Given the description of an element on the screen output the (x, y) to click on. 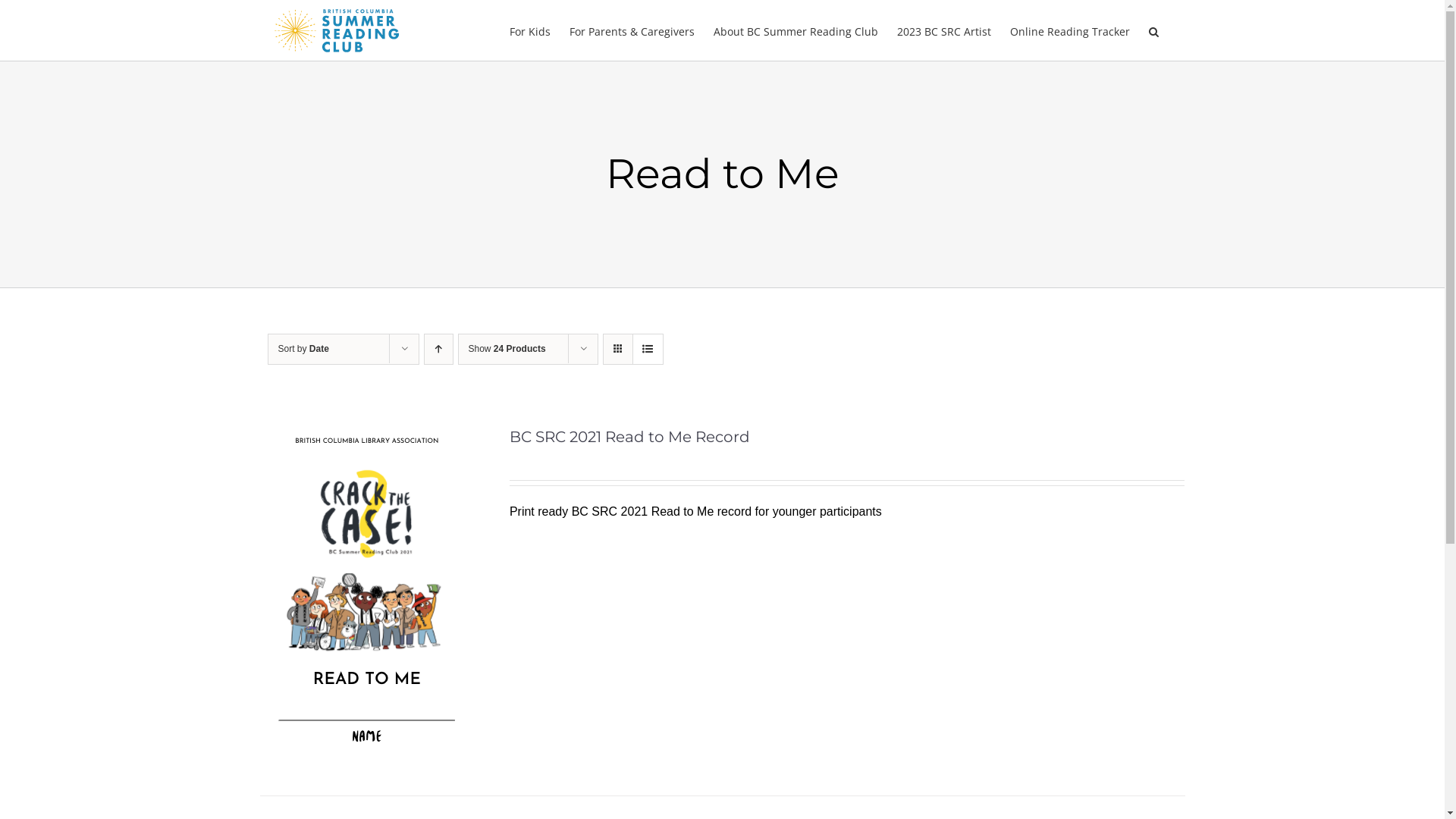
2023 BC SRC Artist Element type: text (943, 30)
For Kids Element type: text (529, 30)
About BC Summer Reading Club Element type: text (794, 30)
Search Element type: hover (1152, 30)
BC SRC 2021 Read to Me Record Element type: text (629, 436)
For Parents & Caregivers Element type: text (630, 30)
Sort by Date Element type: text (302, 348)
Online Reading Tracker Element type: text (1069, 30)
Show 24 Products Element type: text (507, 348)
